Given the description of an element on the screen output the (x, y) to click on. 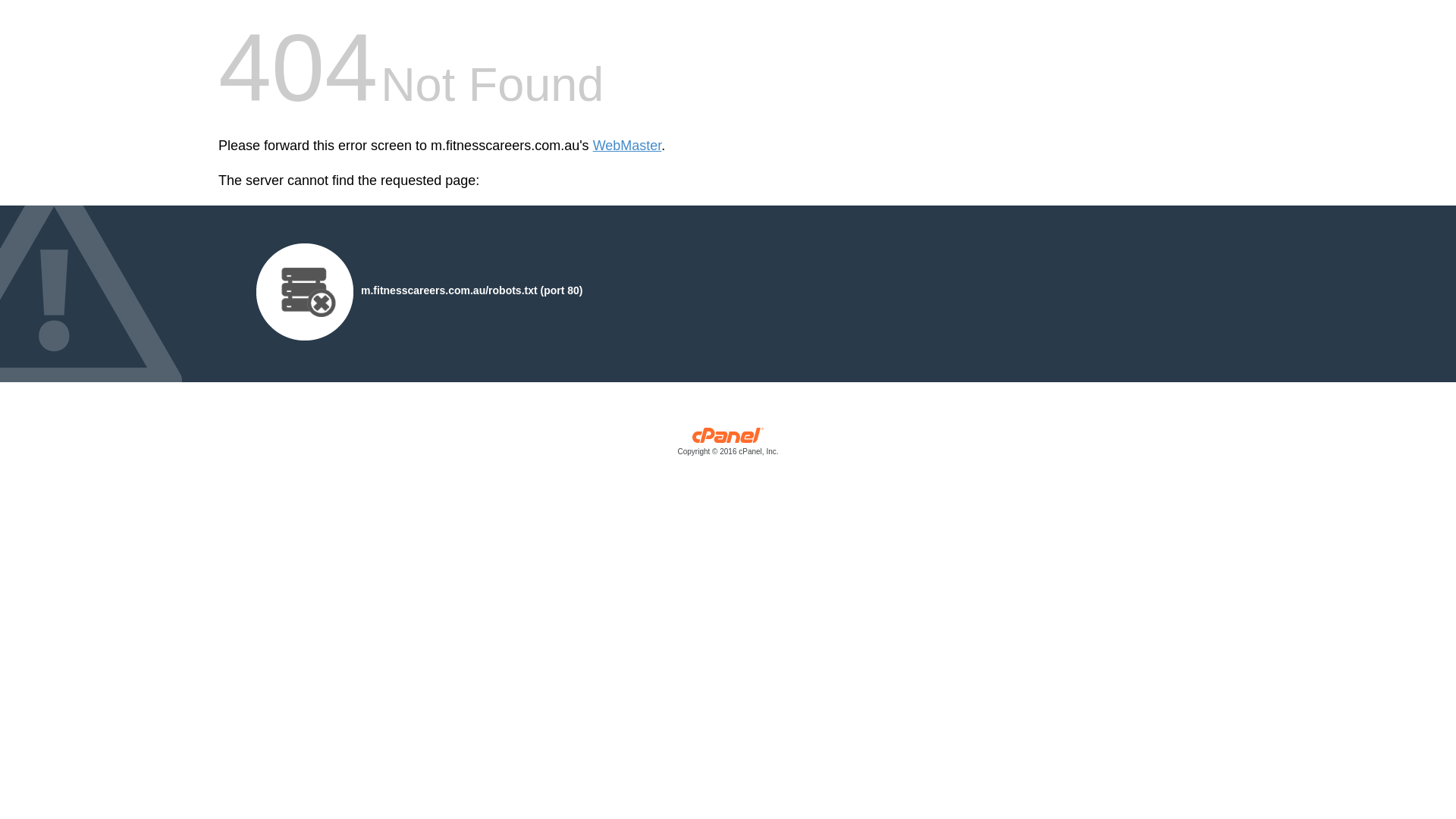
WebMaster Element type: text (627, 145)
